Given the description of an element on the screen output the (x, y) to click on. 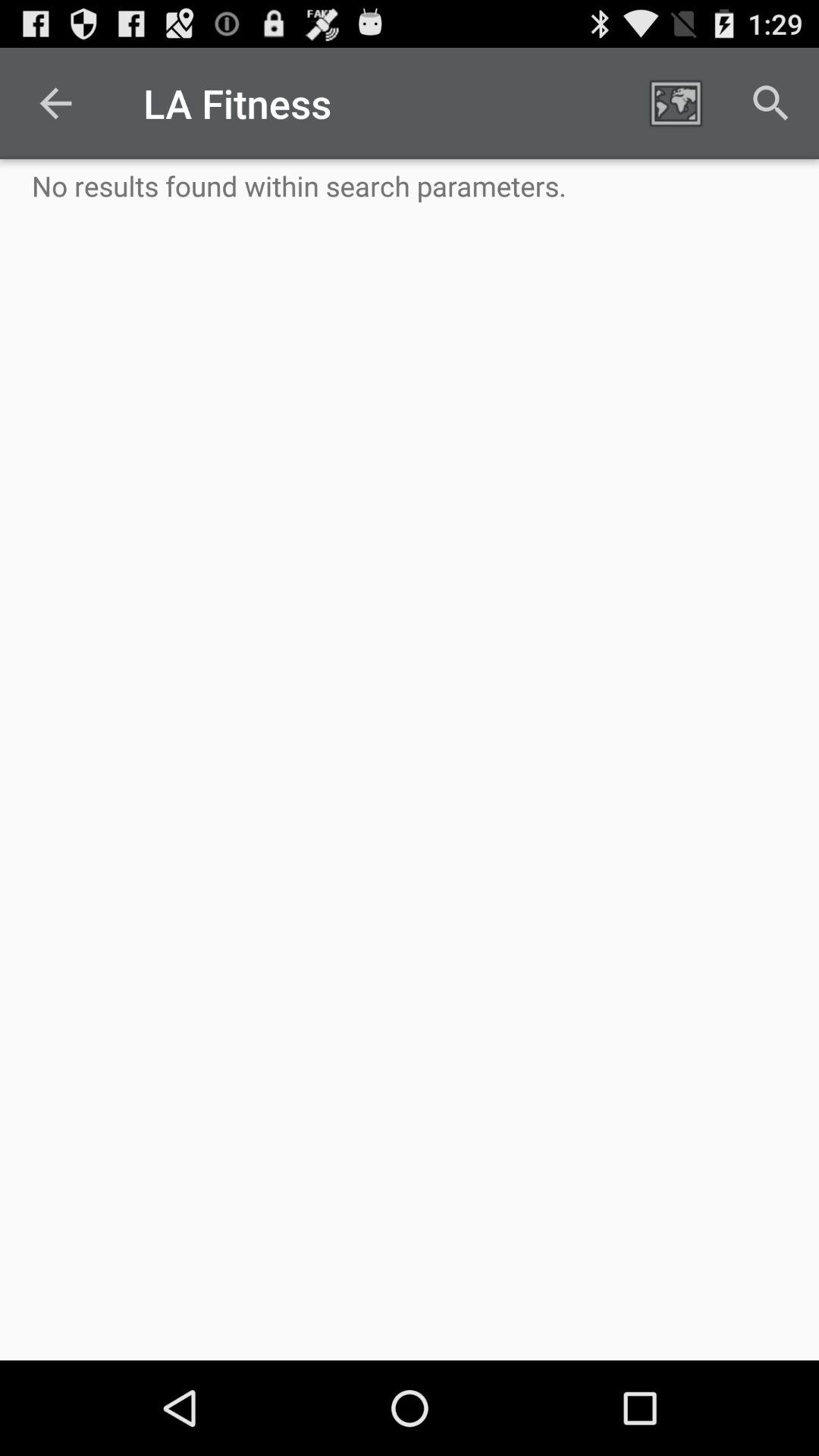
launch icon next to la fitness (55, 103)
